Given the description of an element on the screen output the (x, y) to click on. 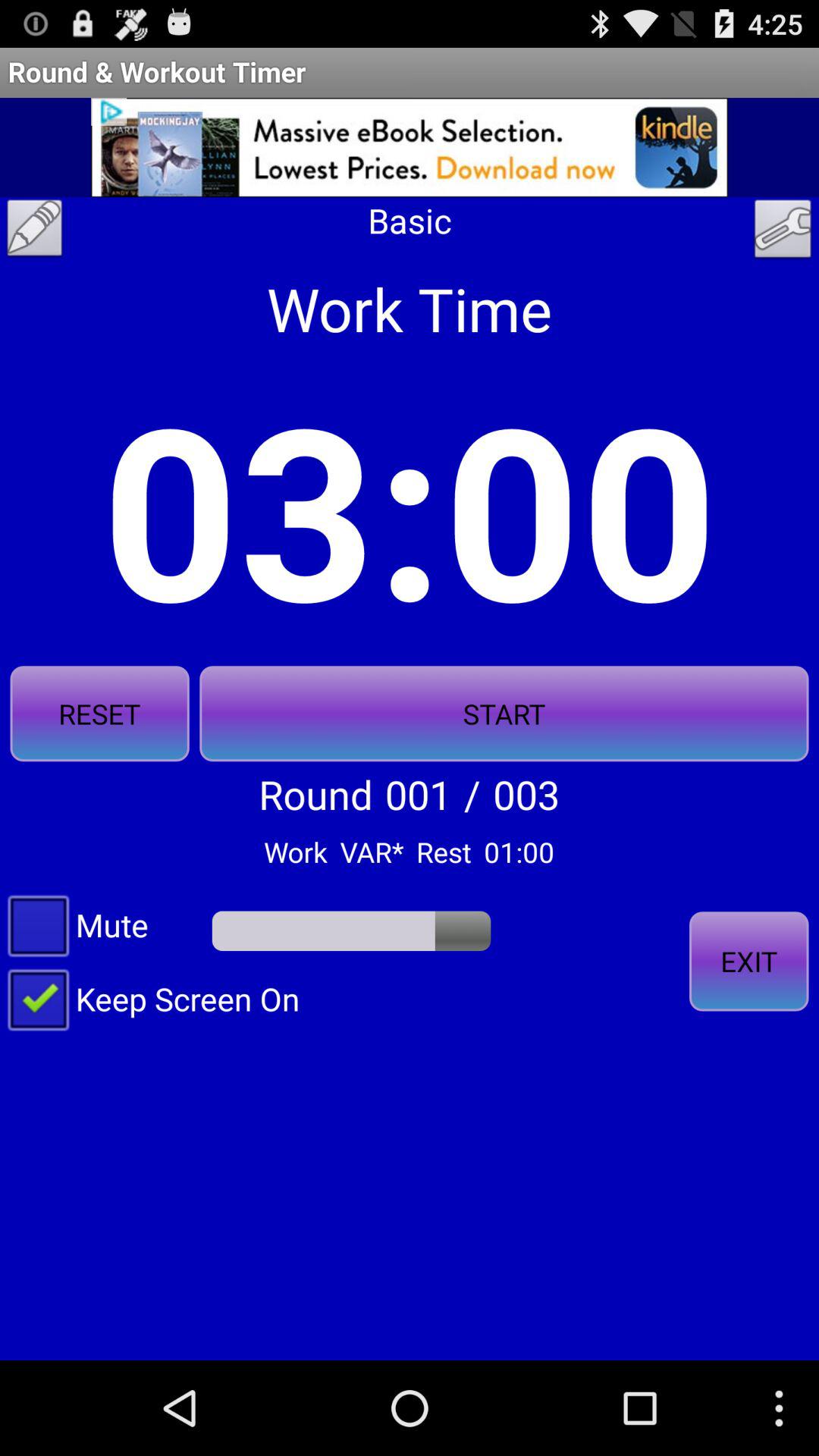
click icon below the reset (78, 924)
